Given the description of an element on the screen output the (x, y) to click on. 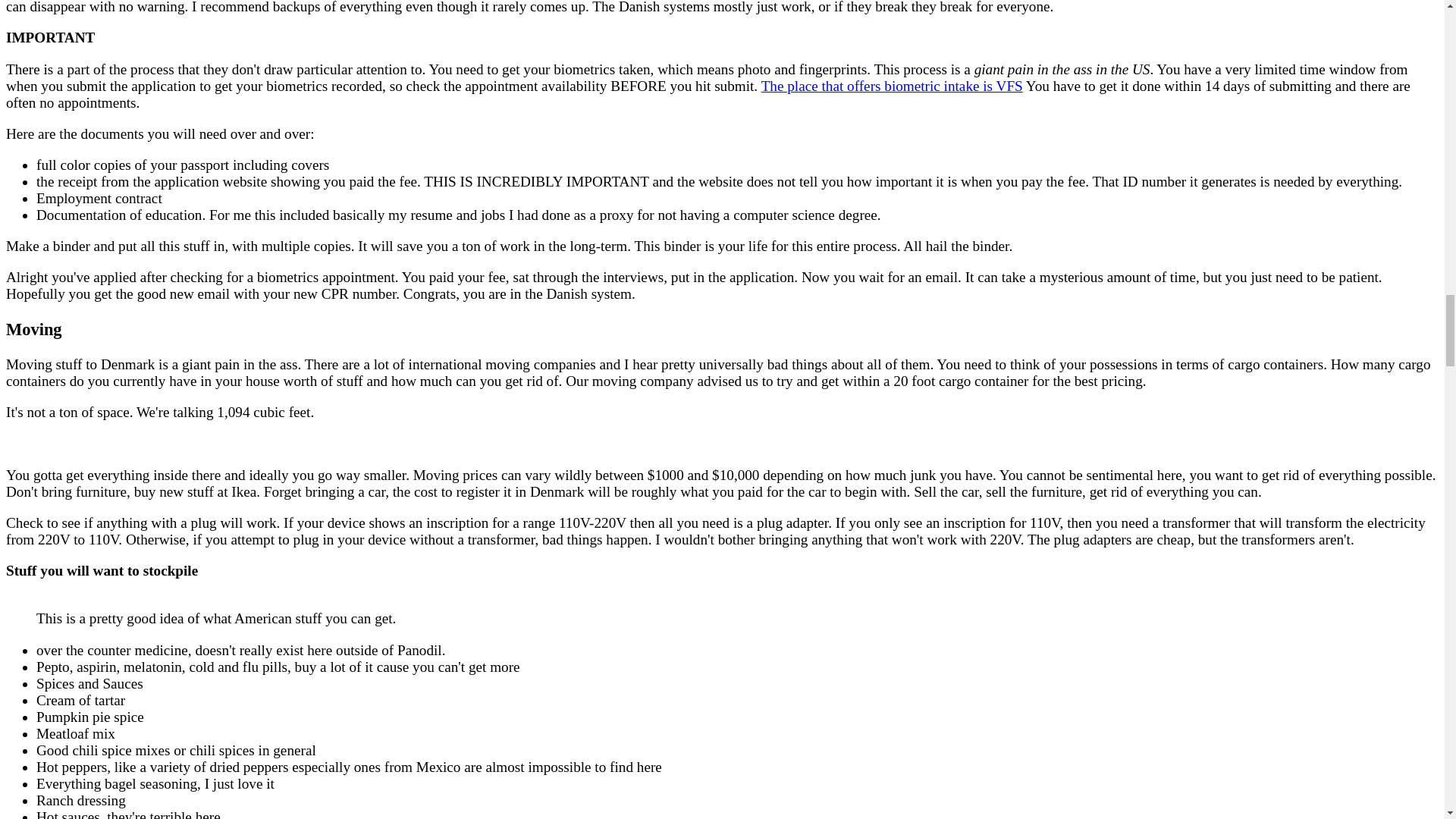
The place that offers biometric intake is VFS (892, 85)
